Given the description of an element on the screen output the (x, y) to click on. 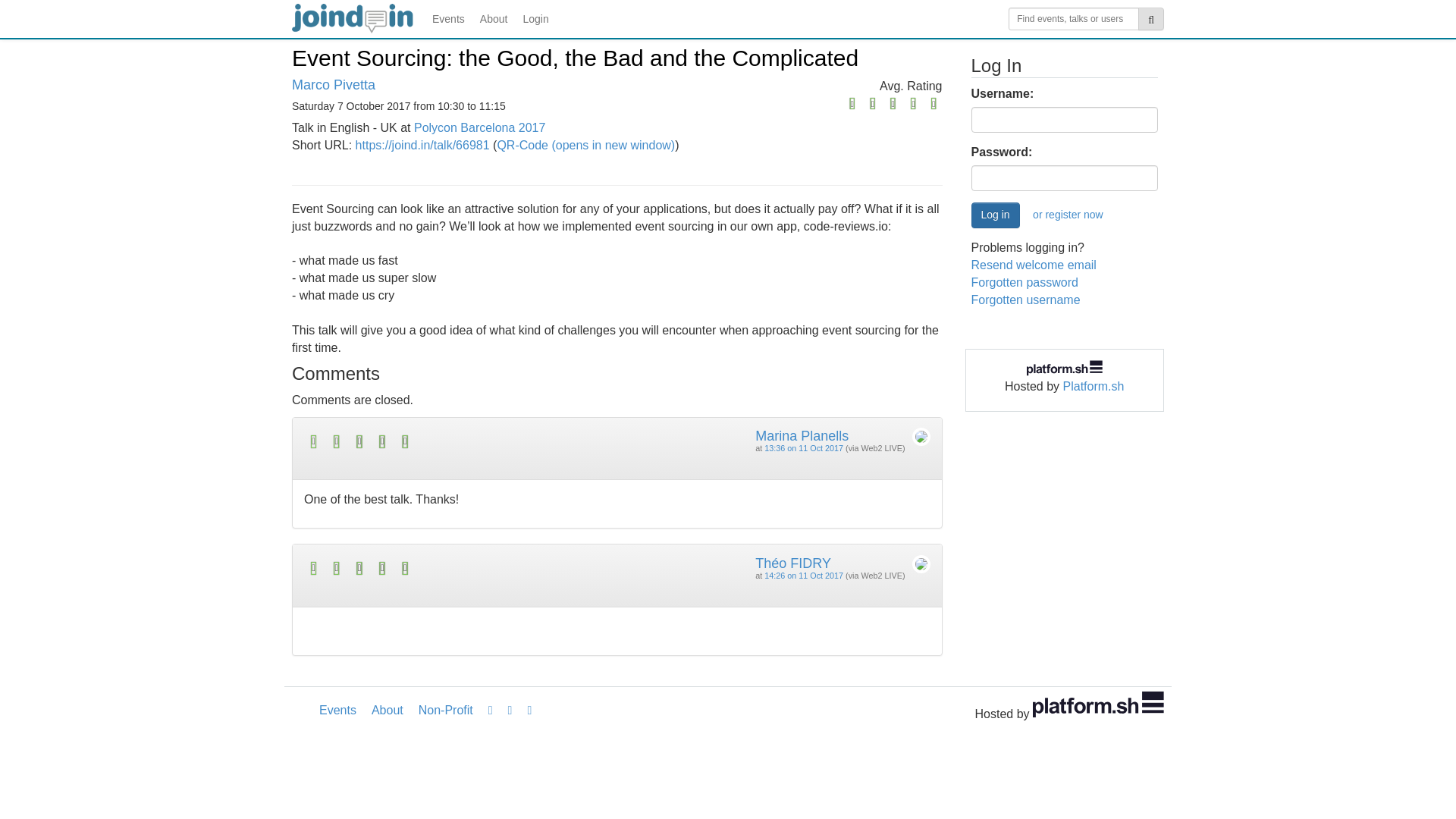
Events (337, 710)
or register now (1068, 215)
14:26 on 11 Oct 2017 (803, 574)
Forgotten username (1025, 299)
Non-Profit (445, 710)
Platform.sh (1093, 386)
Marco Pivetta (333, 84)
13:36 on 11 Oct 2017 (803, 447)
Resend welcome email (1033, 264)
Events (448, 18)
Rated 5 (460, 441)
About (493, 18)
Login (535, 18)
Forgotten password (1024, 282)
Joindin Blog (490, 710)
